Given the description of an element on the screen output the (x, y) to click on. 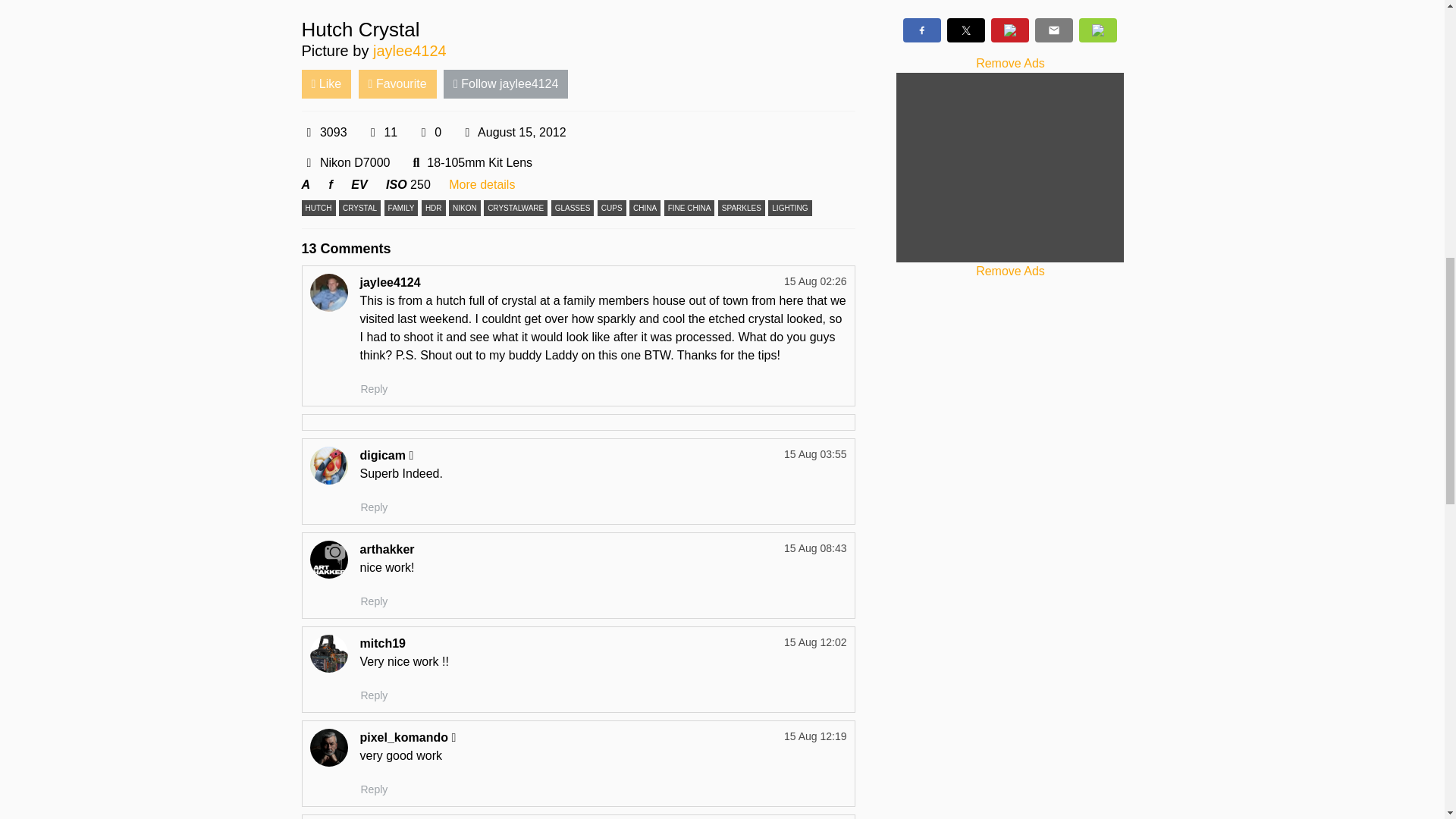
August 15, 2012 03:55 (815, 453)
ISO (396, 184)
jaylee4124 (409, 50)
Exposure Value (358, 184)
Reply (373, 507)
Like (326, 83)
August 15, 2012 02:26 (513, 132)
Reply (373, 695)
Favourite (397, 83)
Reply (373, 601)
